Given the description of an element on the screen output the (x, y) to click on. 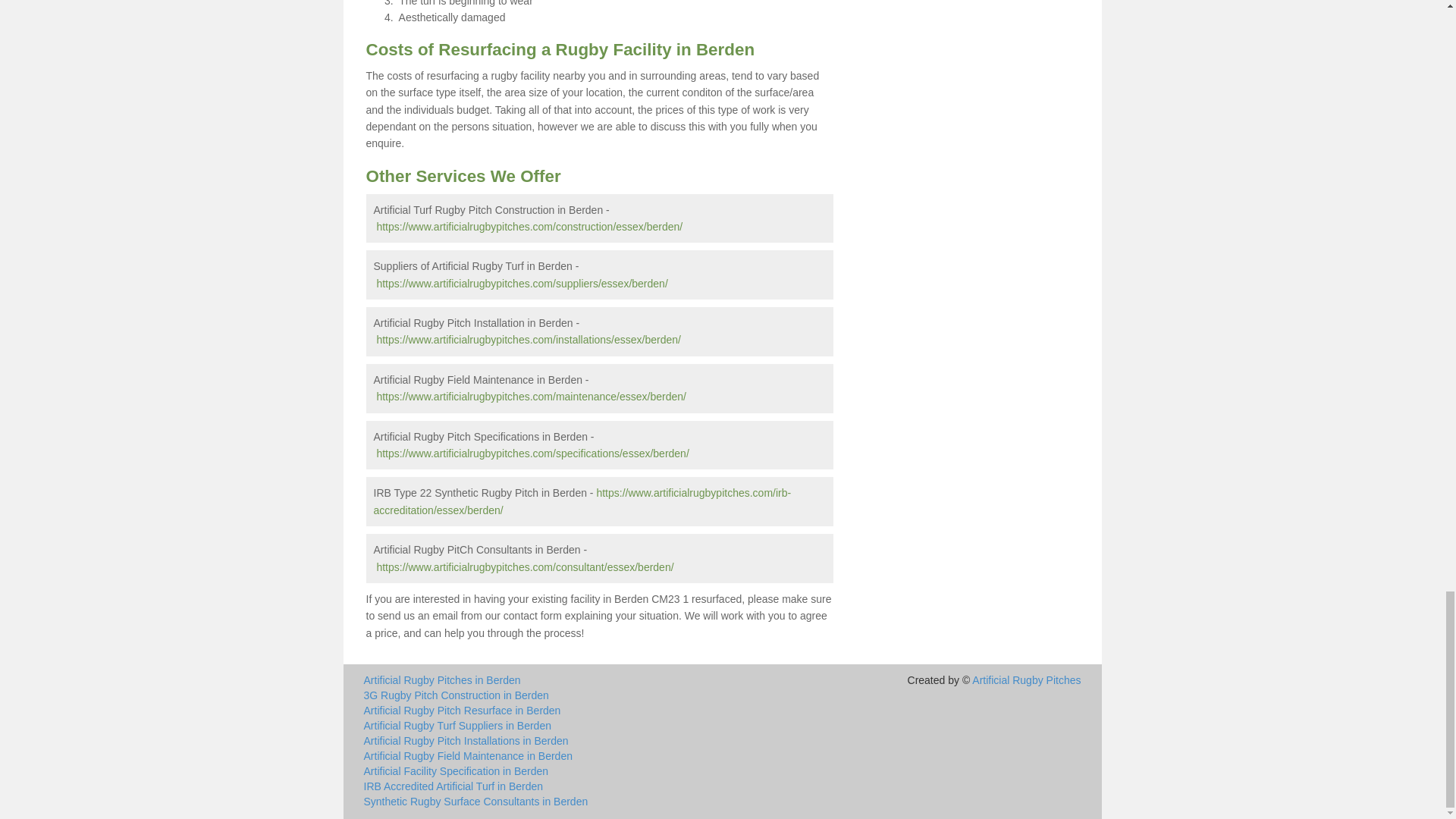
Artificial Rugby Pitches (1026, 680)
